Given the description of an element on the screen output the (x, y) to click on. 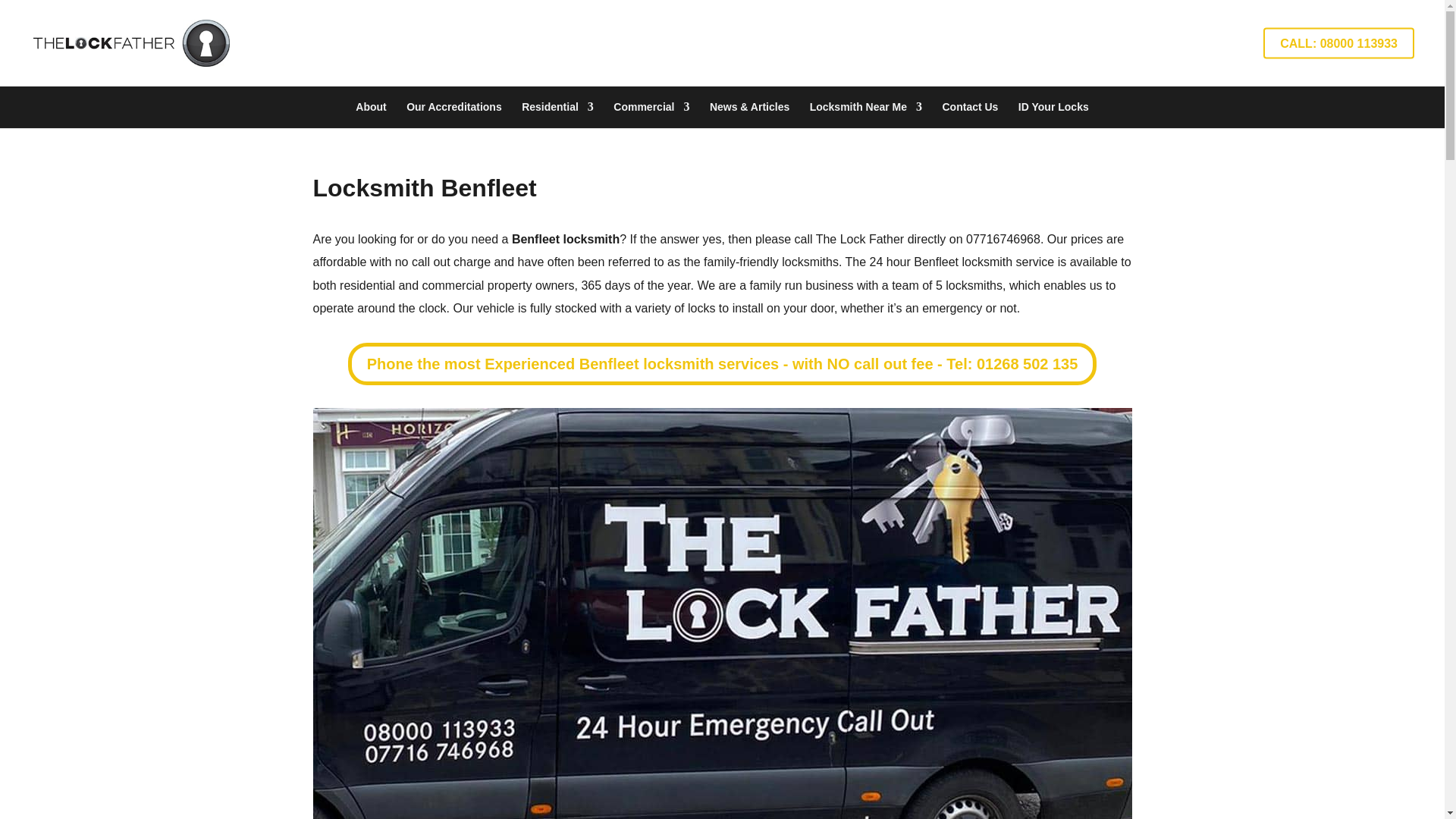
Contact Us (969, 106)
Commercial (650, 106)
Our Accreditations (454, 106)
locksmiths (809, 261)
commercial property (477, 285)
CALL: 08000 113933 (1338, 42)
Residential (557, 106)
ID Your Locks (1053, 106)
Locksmith Near Me (865, 106)
